Given the description of an element on the screen output the (x, y) to click on. 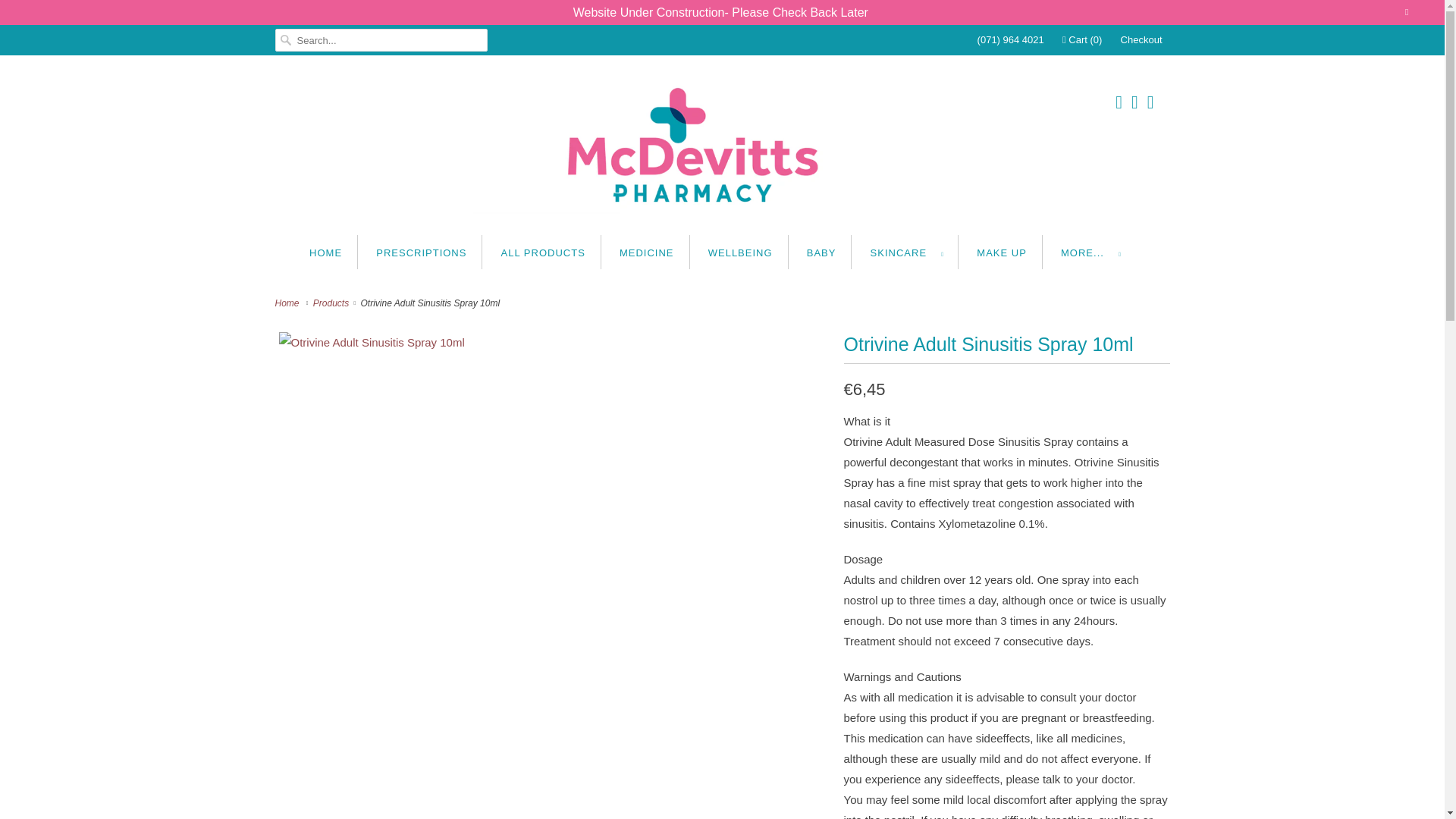
HOME (325, 252)
ALL PRODUCTS (542, 252)
PRESCRIPTIONS (420, 252)
Products (332, 303)
Mc Devitt's Pharmacy (722, 148)
MORE...  (1090, 252)
BABY (820, 252)
MAKE UP (1001, 252)
Home (288, 303)
MEDICINE (647, 252)
Checkout (1141, 39)
WELLBEING (740, 252)
Mc Devitt's Pharmacy (288, 303)
SKINCARE  (906, 252)
